Given the description of an element on the screen output the (x, y) to click on. 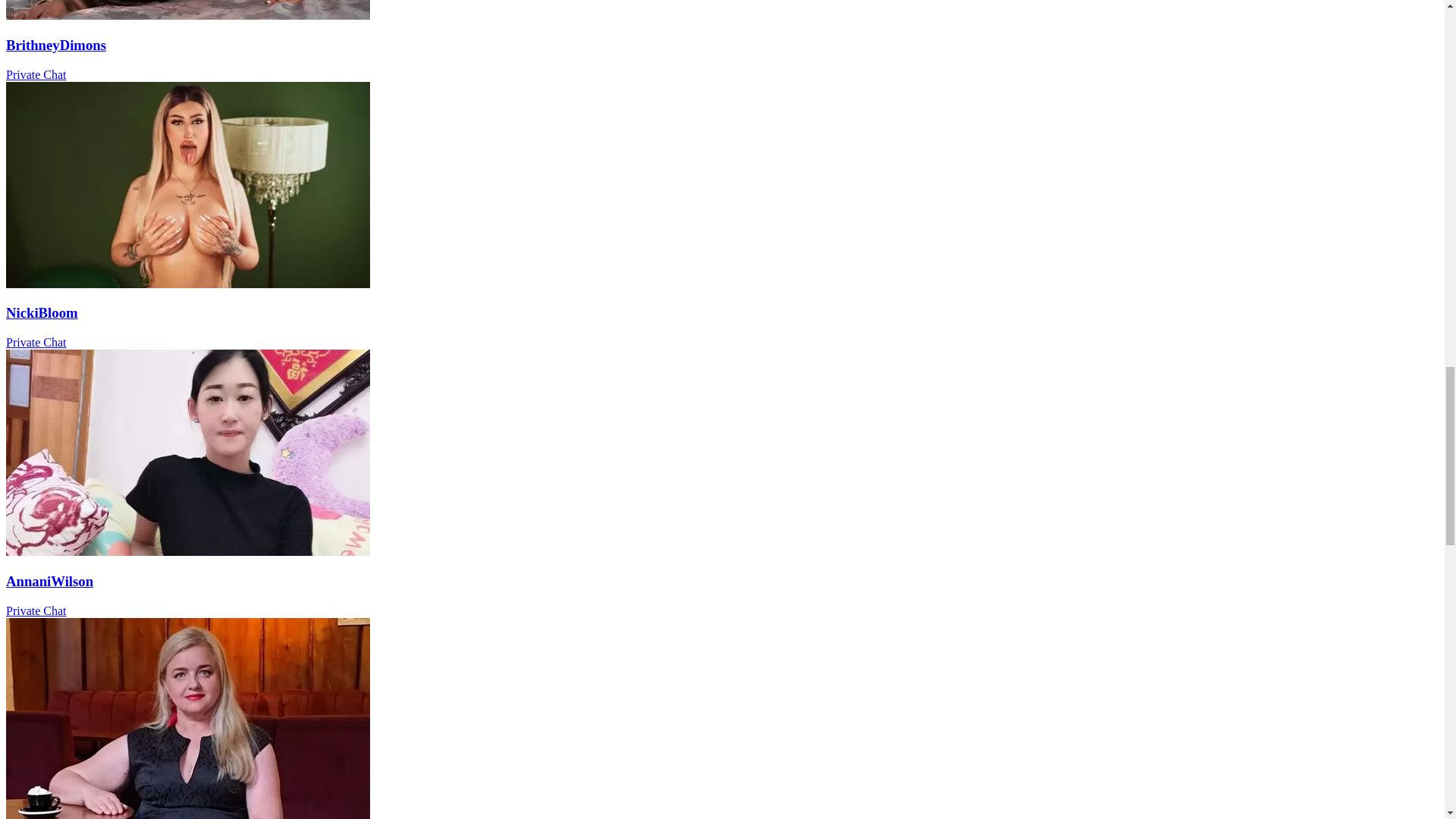
BrithneyDimons's live cam (187, 15)
NickiBloom's live cam (187, 283)
AnnaniWilson's live cam (187, 551)
MerylAlford's live cam (187, 816)
